Given the description of an element on the screen output the (x, y) to click on. 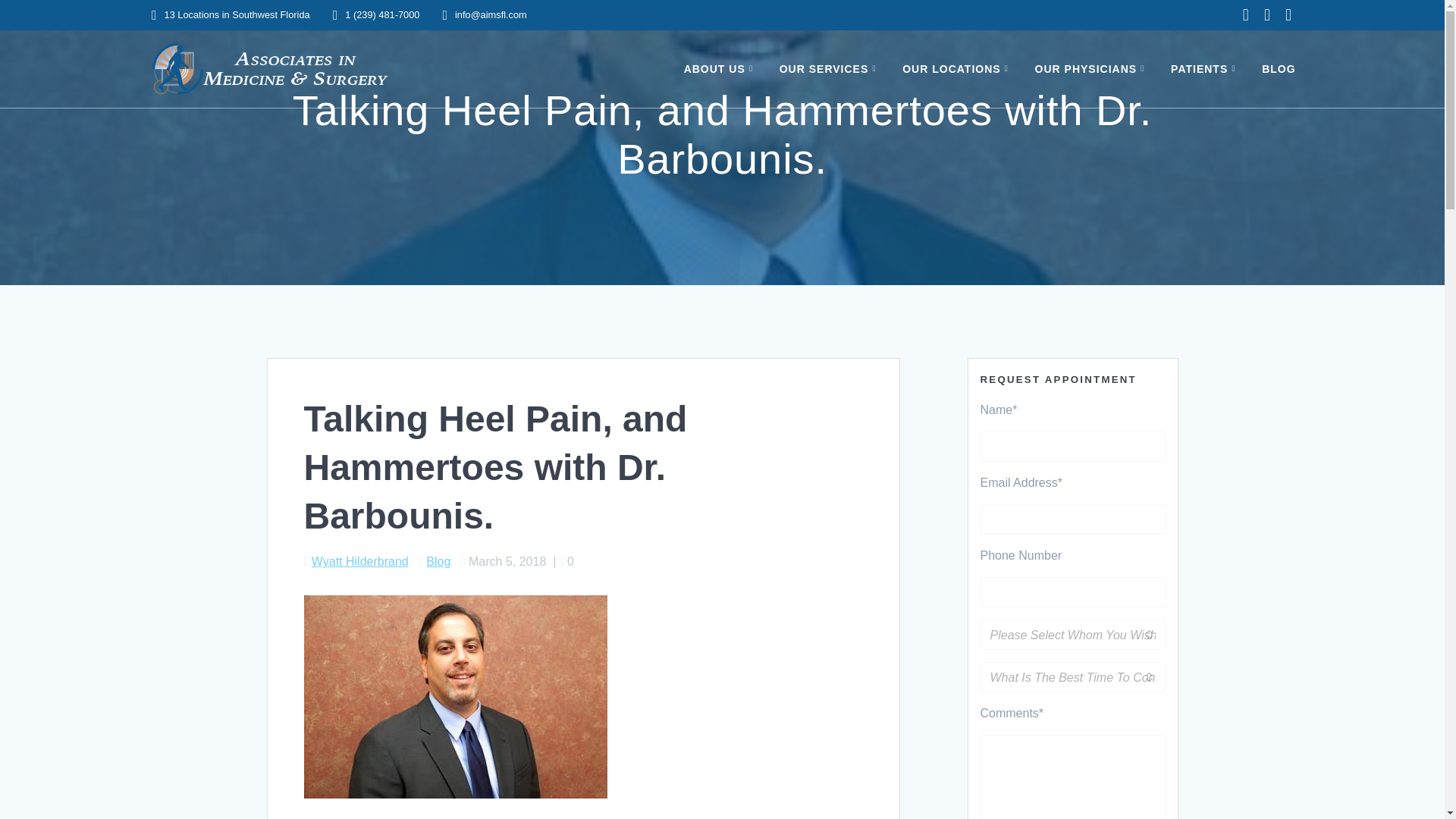
ABOUT US (721, 68)
Logo (268, 68)
OUR LOCATIONS (957, 68)
Talking Heel Pain, and Hammertoes with Dr. Barbounis. (454, 696)
Posts by Wyatt Hilderbrand (360, 561)
OUR PHYSICIANS (1092, 68)
OUR SERVICES (830, 68)
